Given the description of an element on the screen output the (x, y) to click on. 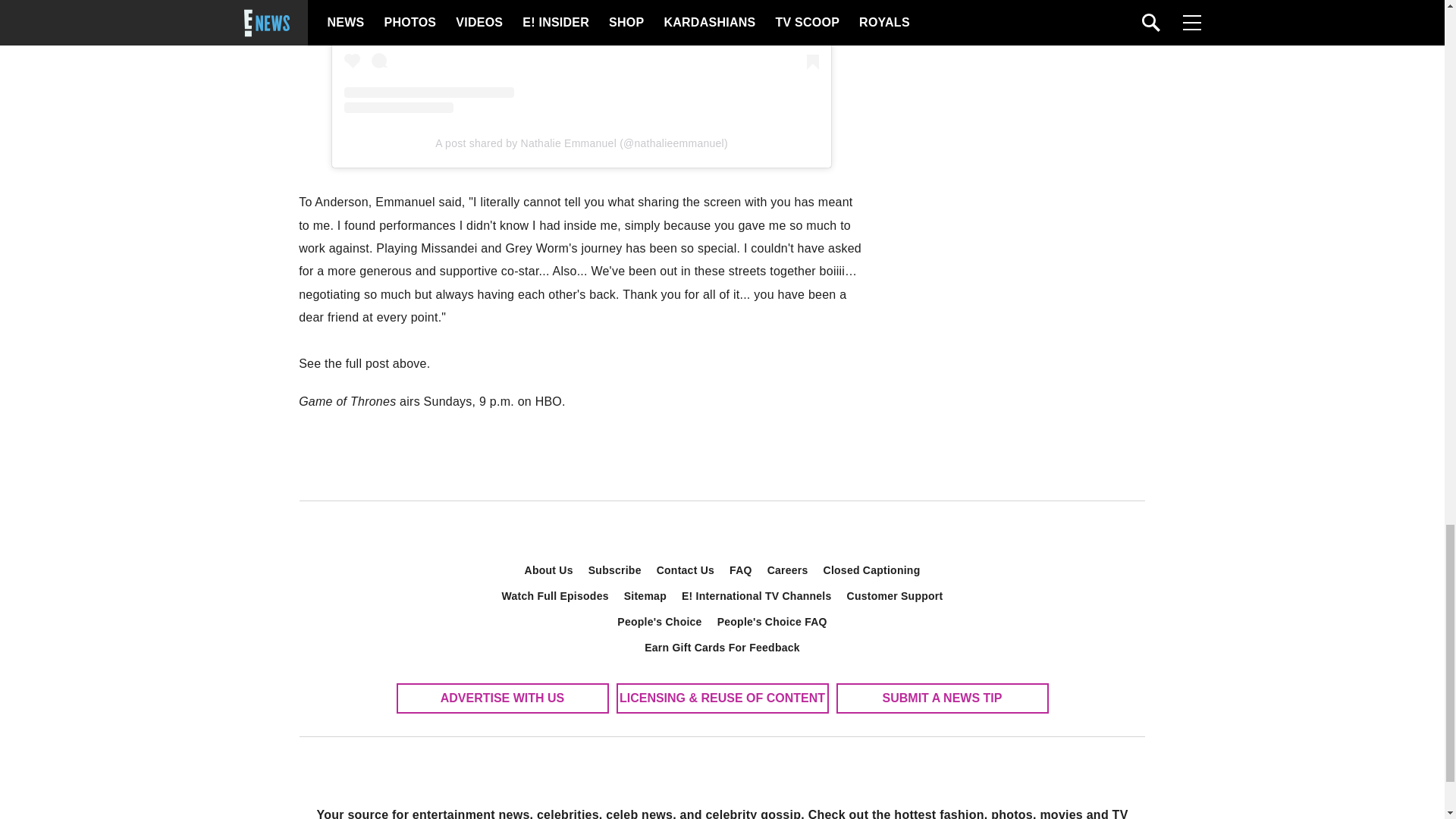
About Us (548, 570)
FAQ (741, 570)
Contact Us (685, 570)
Subscribe (614, 570)
Watch Full Episodes (555, 596)
Closed Captioning (871, 570)
View this post on Instagram (580, 56)
Careers (787, 570)
